Given the description of an element on the screen output the (x, y) to click on. 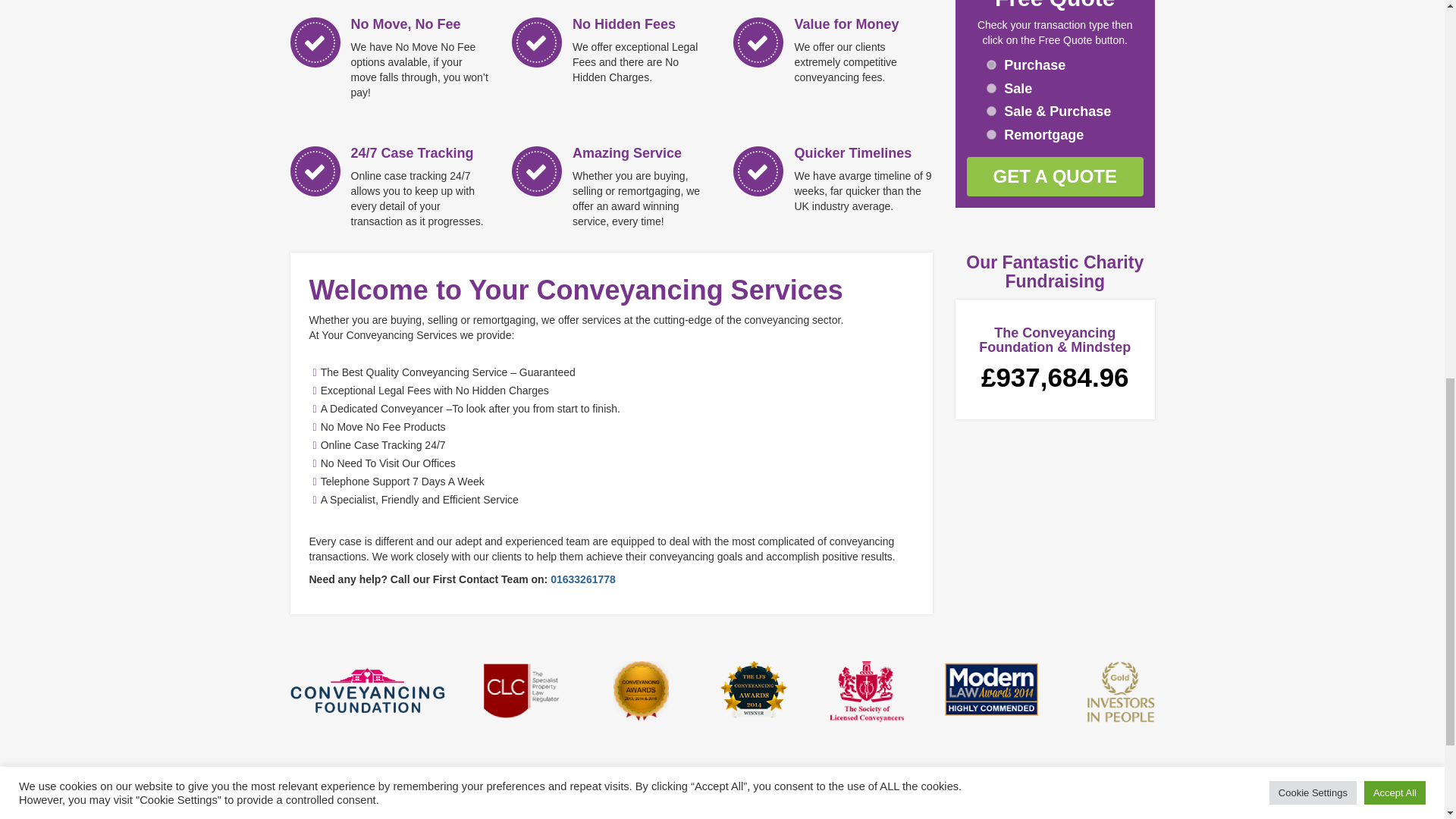
purchase (991, 64)
sale (991, 88)
sale and purchase (991, 111)
Get a Quote (1054, 176)
01633261778 (582, 579)
